Given the description of an element on the screen output the (x, y) to click on. 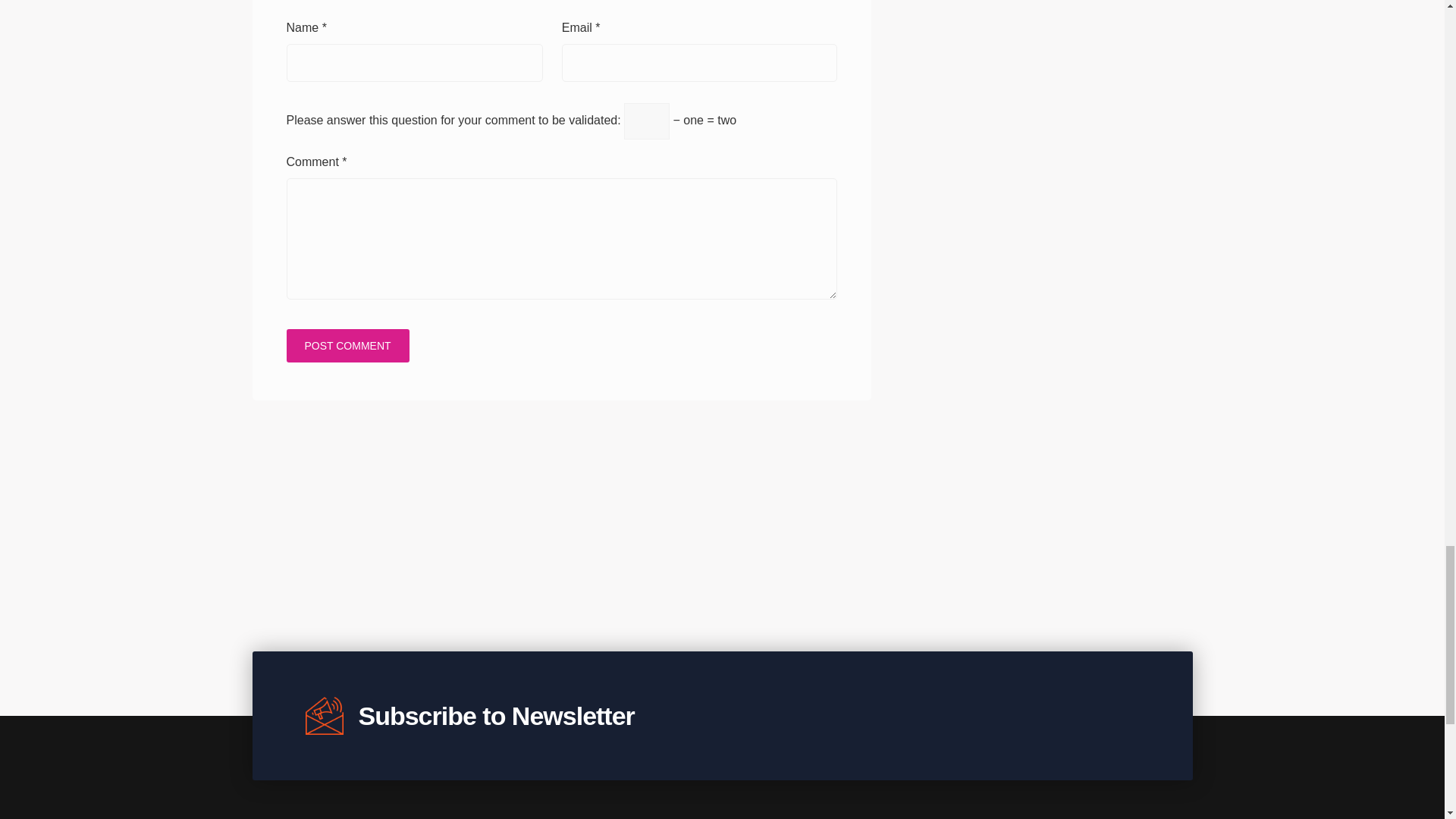
Post Comment (347, 345)
Advertisement (564, 441)
Post Comment (347, 345)
Advertisement (721, 525)
